Given the description of an element on the screen output the (x, y) to click on. 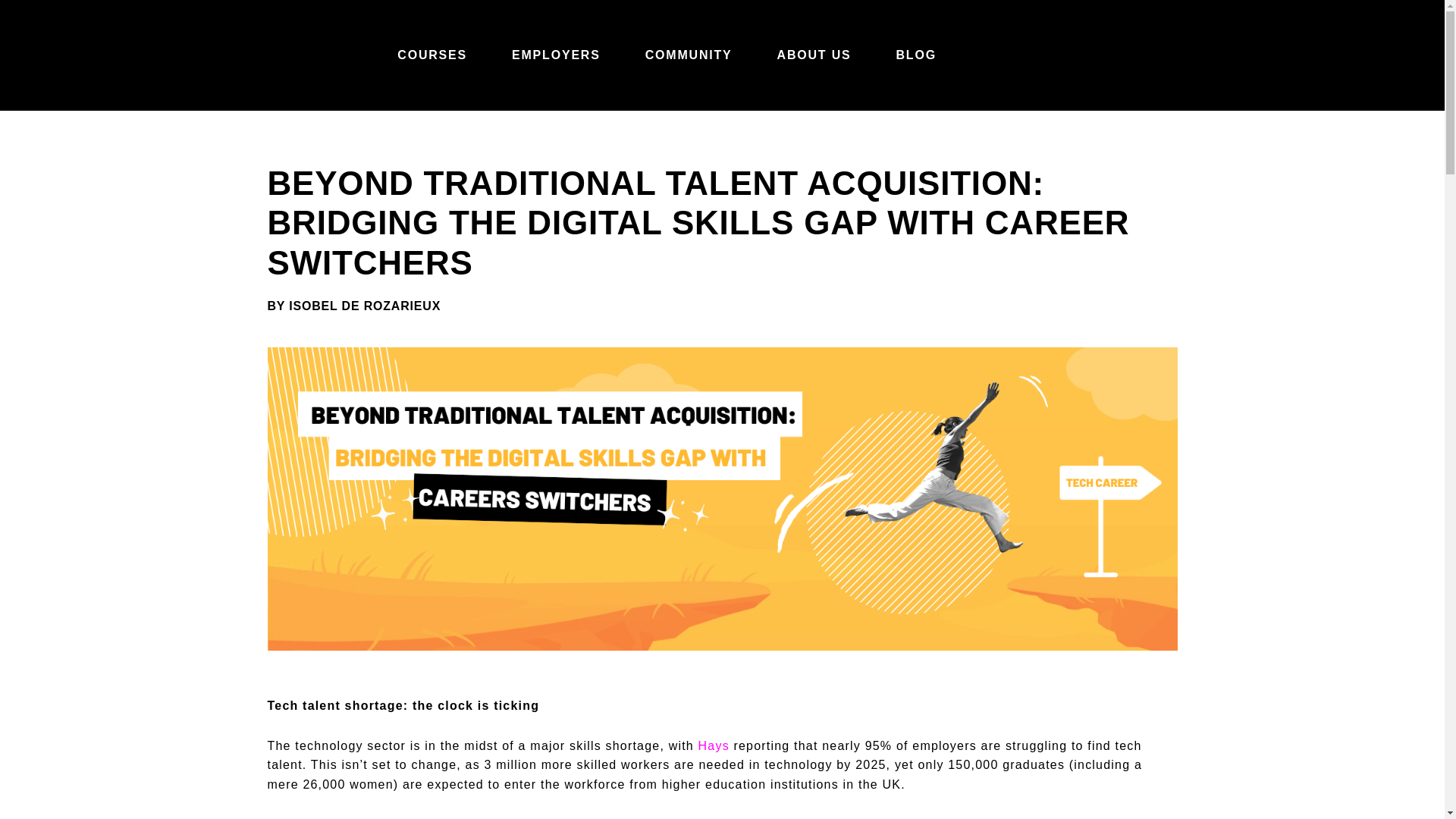
ABOUT US (814, 55)
COMMUNITY (688, 55)
COURSES (432, 55)
EMPLOYERS (556, 55)
